Given the description of an element on the screen output the (x, y) to click on. 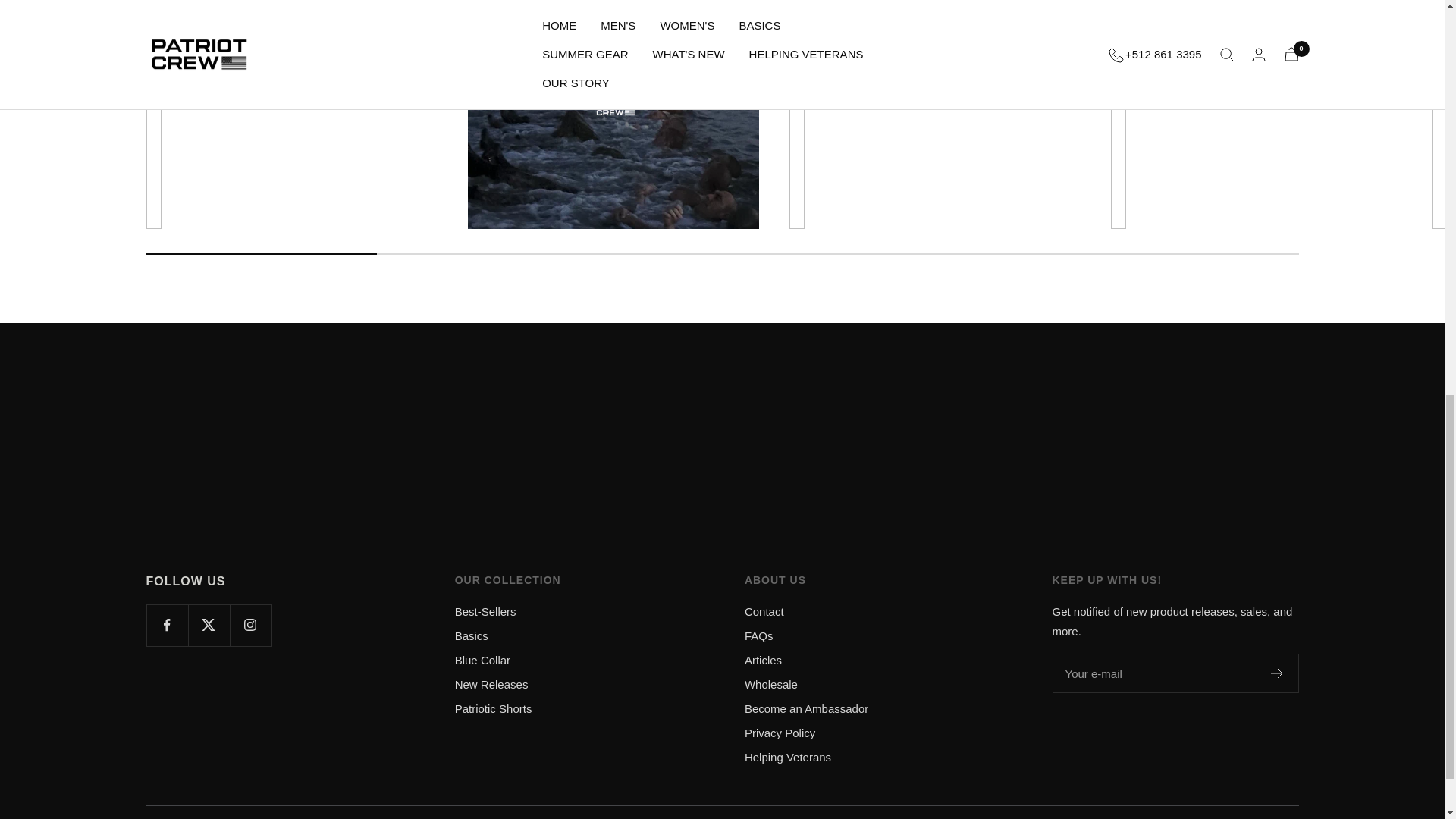
Contact (764, 611)
Wholesale (770, 684)
Helping Veterans (787, 757)
Privacy Policy (779, 732)
Patriotic Shorts (493, 709)
Blue Collar (482, 660)
Best-Sellers (485, 611)
Basics (470, 636)
Become an Ambassador (805, 709)
Register (1277, 673)
